Given the description of an element on the screen output the (x, y) to click on. 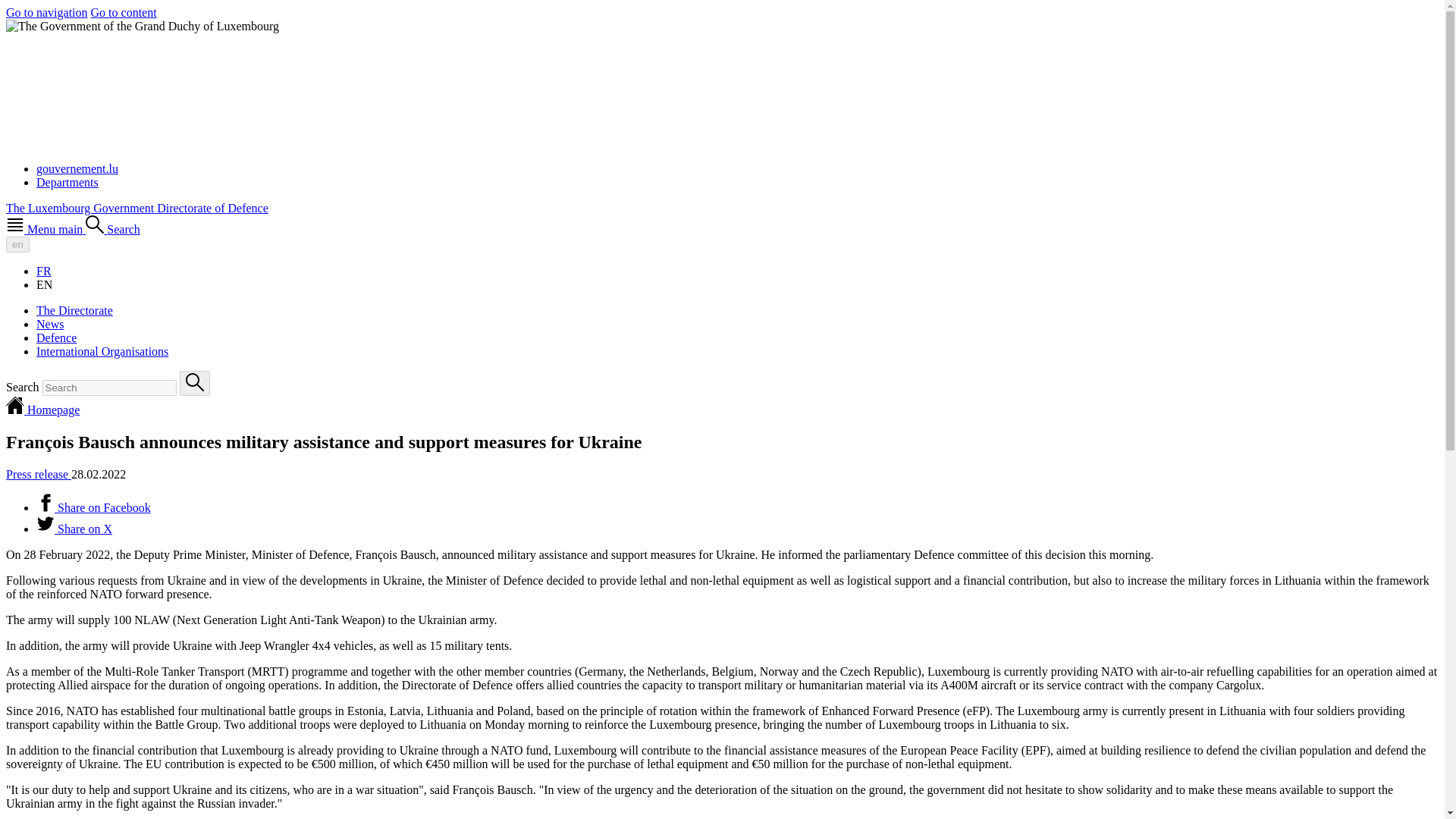
Share on Facebook (93, 507)
Homepage (42, 409)
Share on Facebook (93, 507)
English version - News (44, 284)
Defence (56, 337)
The Directorate (74, 309)
International Organisations (102, 350)
Menu main (45, 228)
FR (43, 270)
Go to content (123, 11)
